Given the description of an element on the screen output the (x, y) to click on. 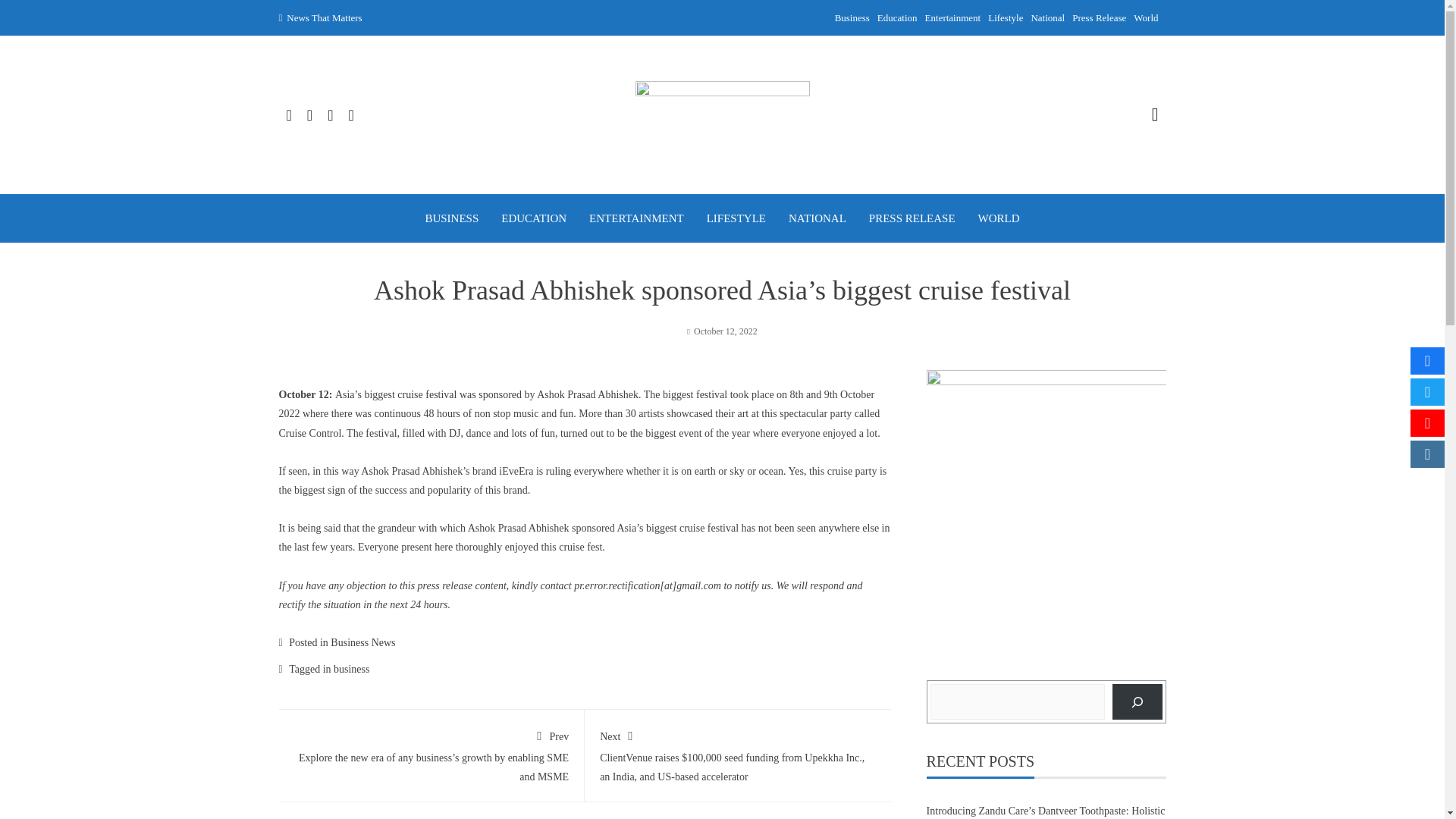
Press Release (1098, 17)
Business (851, 17)
Entertainment (952, 17)
WORLD (999, 218)
LIFESTYLE (735, 218)
World (1145, 17)
Lifestyle (1005, 17)
NATIONAL (817, 218)
PRESS RELEASE (912, 218)
BUSINESS (452, 218)
business (351, 668)
EDUCATION (533, 218)
Education (897, 17)
Business News (362, 642)
National (1047, 17)
